Given the description of an element on the screen output the (x, y) to click on. 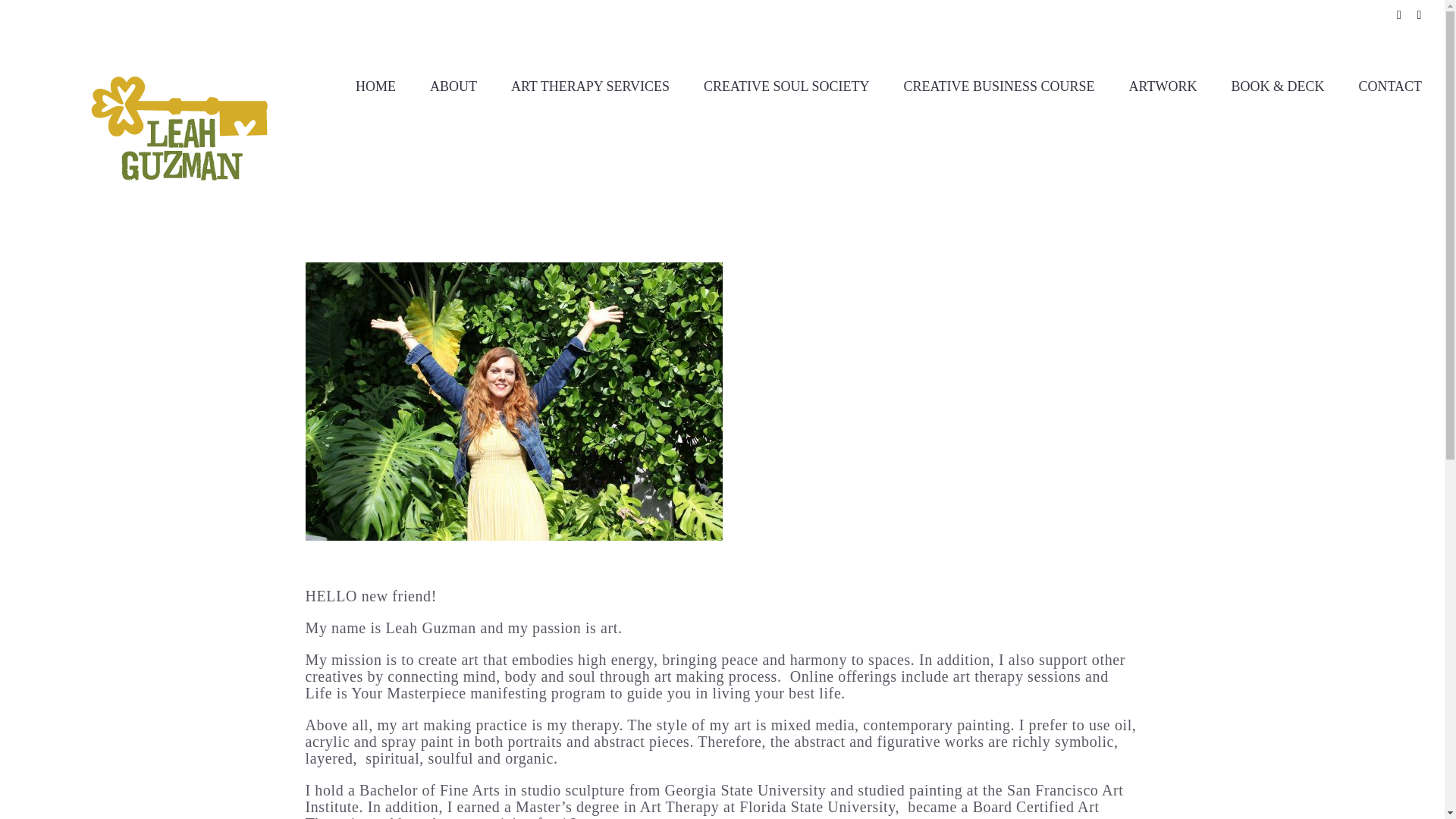
ART THERAPY SERVICES (590, 85)
CREATIVE SOUL SOCIETY (786, 85)
ARTWORK (1162, 85)
CREATIVE BUSINESS COURSE (998, 85)
CONTACT (1390, 85)
